Given the description of an element on the screen output the (x, y) to click on. 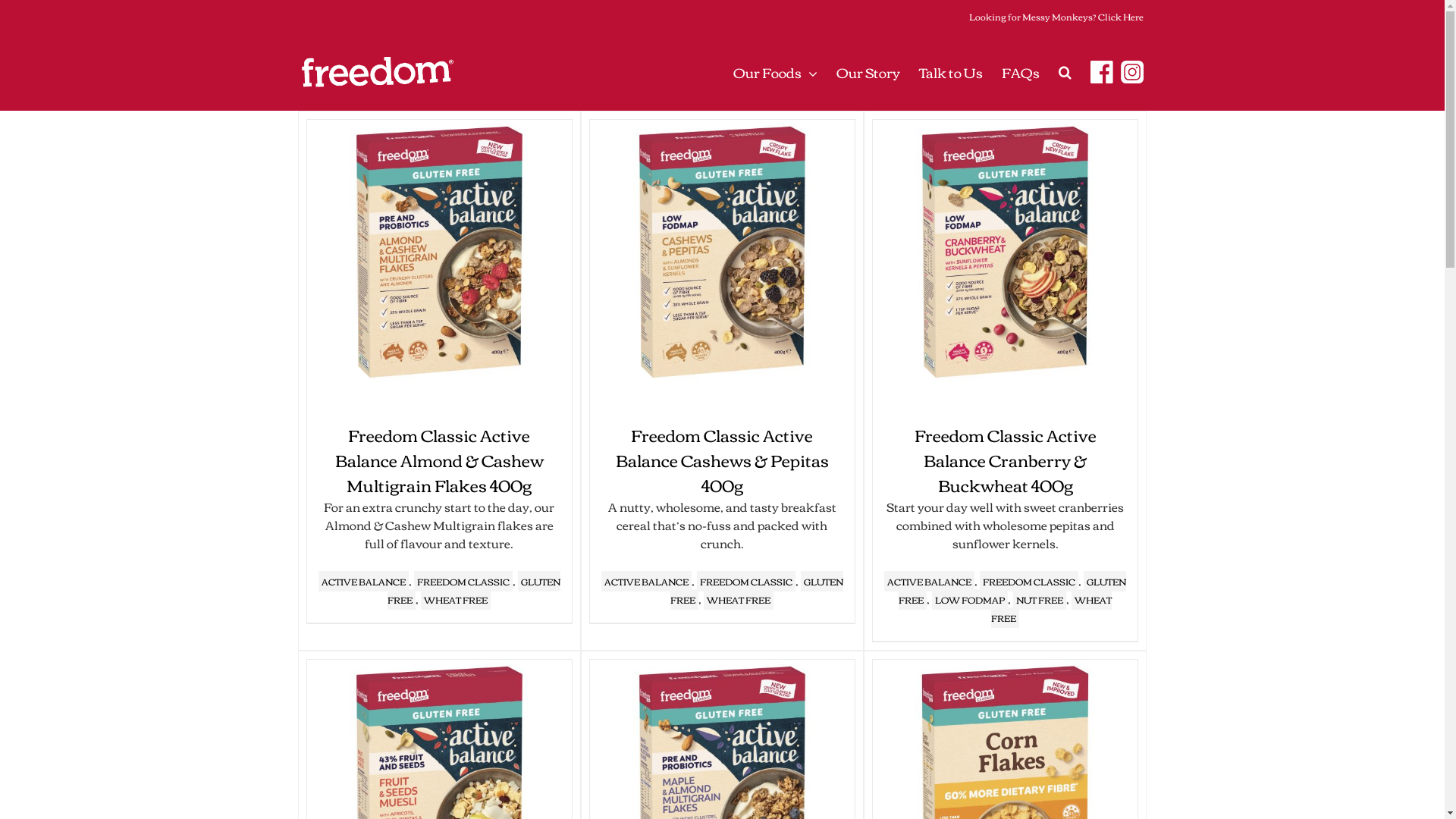
GLUTEN FREE Element type: text (473, 590)
Facebook Element type: hover (1101, 72)
LOW FODMAP Element type: text (969, 599)
ACTIVE BALANCE Element type: text (929, 581)
Click Here Element type: text (1120, 16)
NUT FREE Element type: text (1039, 599)
FAQs Element type: text (1019, 72)
Freedom Classic Active Balance Cashews & Pepitas 400g Element type: text (721, 459)
Search Element type: hover (1064, 72)
ACTIVE BALANCE Element type: text (646, 581)
FREEDOM CLASSIC Element type: text (1028, 581)
FREEDOM CLASSIC Element type: text (745, 581)
GLUTEN FREE Element type: text (1012, 590)
Our Foods Element type: text (774, 72)
ACTIVE BALANCE Element type: text (363, 581)
WHEAT FREE Element type: text (455, 599)
GLUTEN FREE Element type: text (756, 590)
Instagram Element type: hover (1131, 72)
WHEAT FREE Element type: text (738, 599)
Talk to Us Element type: text (950, 72)
Freedom Classic Active Balance Cranberry & Buckwheat 400g Element type: text (1005, 459)
Our Story Element type: text (867, 72)
WHEAT FREE Element type: text (1051, 608)
FREEDOM CLASSIC Element type: text (463, 581)
